Given the description of an element on the screen output the (x, y) to click on. 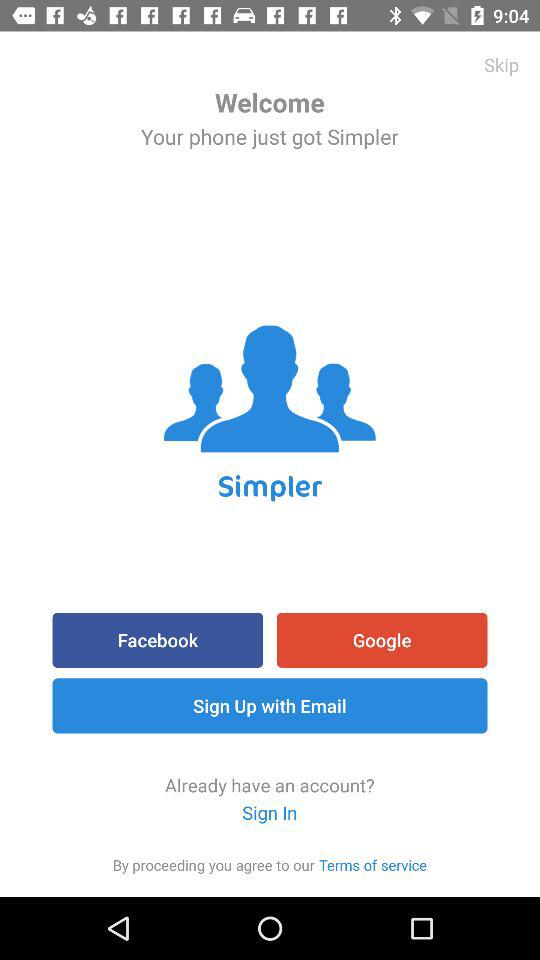
open icon next to welcome item (501, 64)
